Given the description of an element on the screen output the (x, y) to click on. 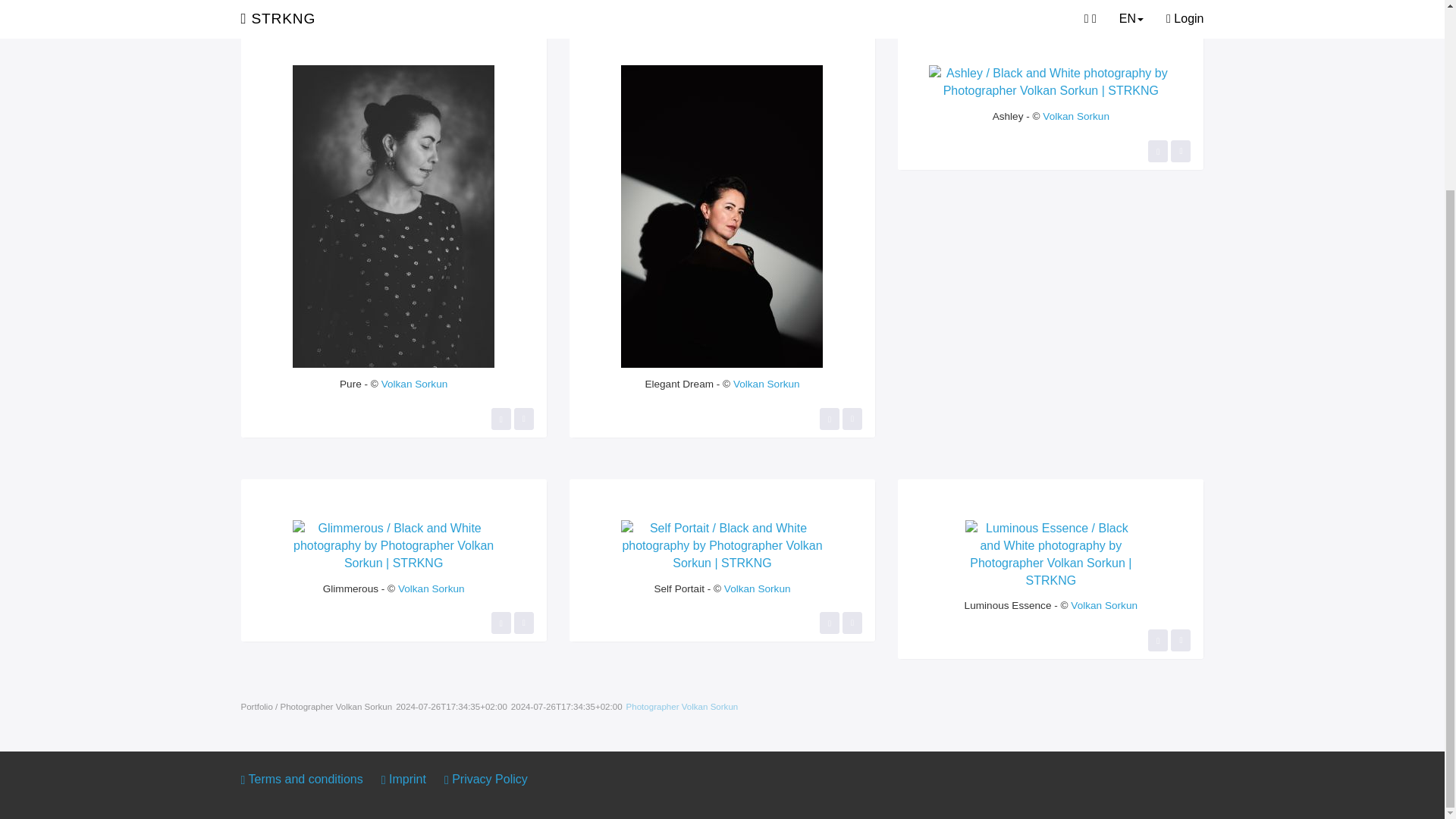
Volkan Sorkun (766, 383)
Portfolio (271, 6)
Blog (326, 6)
Yes, this image is top for me! It gets one of my stars. (501, 418)
Volkan Sorkun (430, 588)
Share (523, 418)
Volkan Sorkun (1075, 116)
Volkan Sorkun (414, 383)
